Given the description of an element on the screen output the (x, y) to click on. 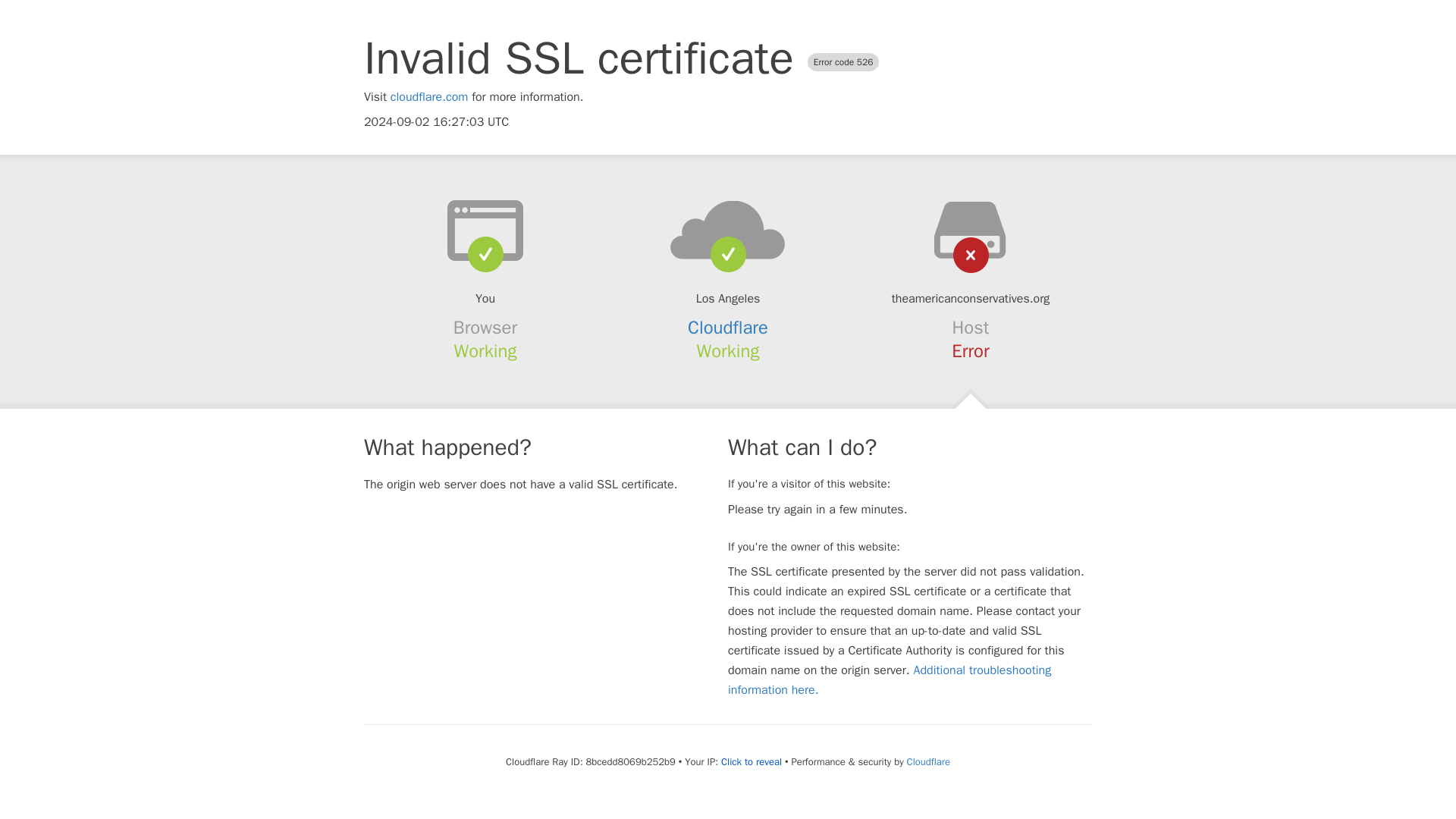
Cloudflare (928, 761)
Click to reveal (750, 762)
cloudflare.com (429, 96)
Additional troubleshooting information here. (889, 679)
Cloudflare (727, 327)
